Given the description of an element on the screen output the (x, y) to click on. 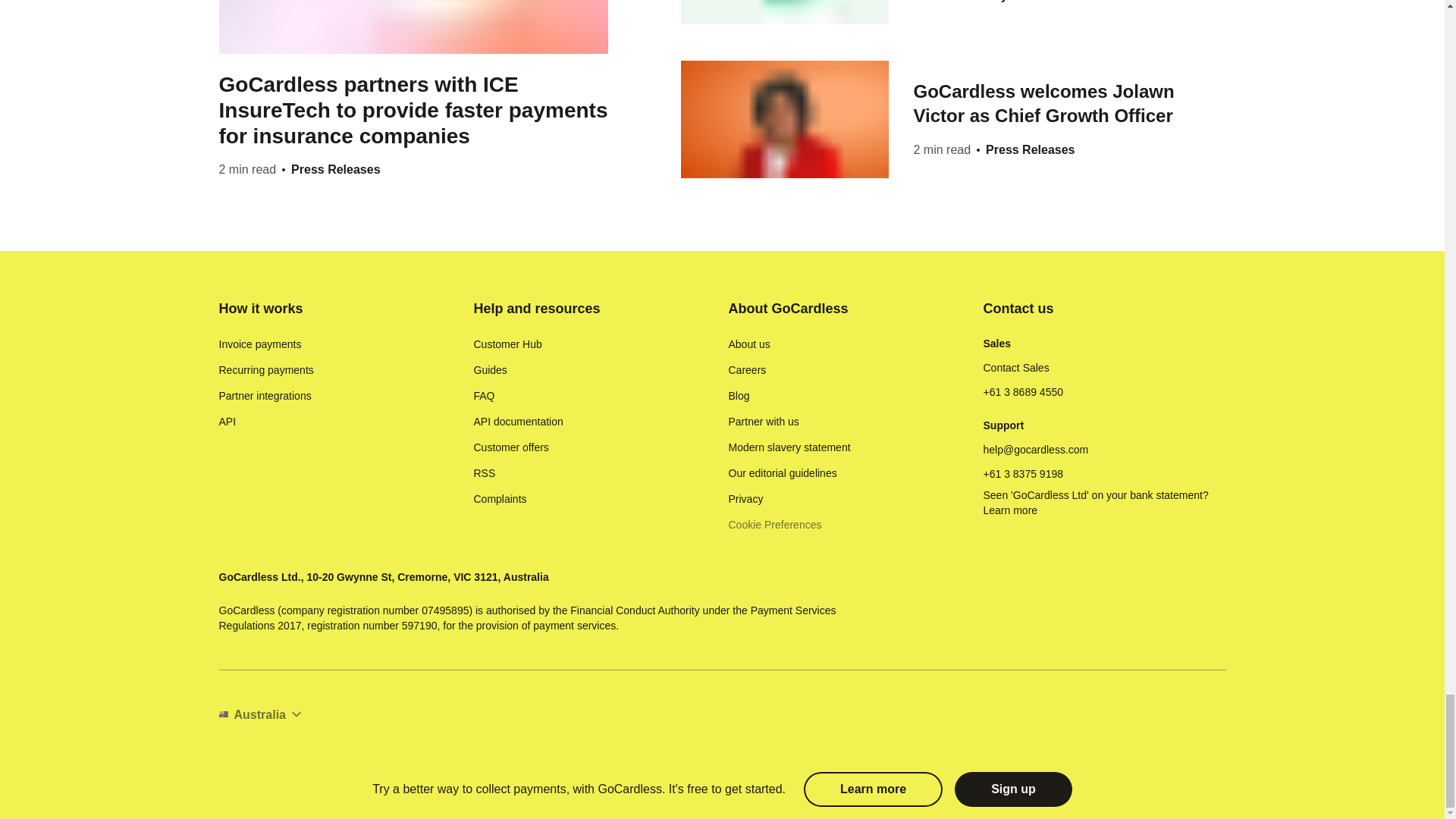
FAQ (484, 395)
Modern slavery statement (789, 447)
Customer Hub (507, 344)
Our editorial guidelines (781, 473)
Partner with us (762, 421)
Partner integrations (264, 395)
Guides (489, 369)
Recurring payments (265, 369)
Invoice payments (259, 344)
Complaints (499, 498)
